Given the description of an element on the screen output the (x, y) to click on. 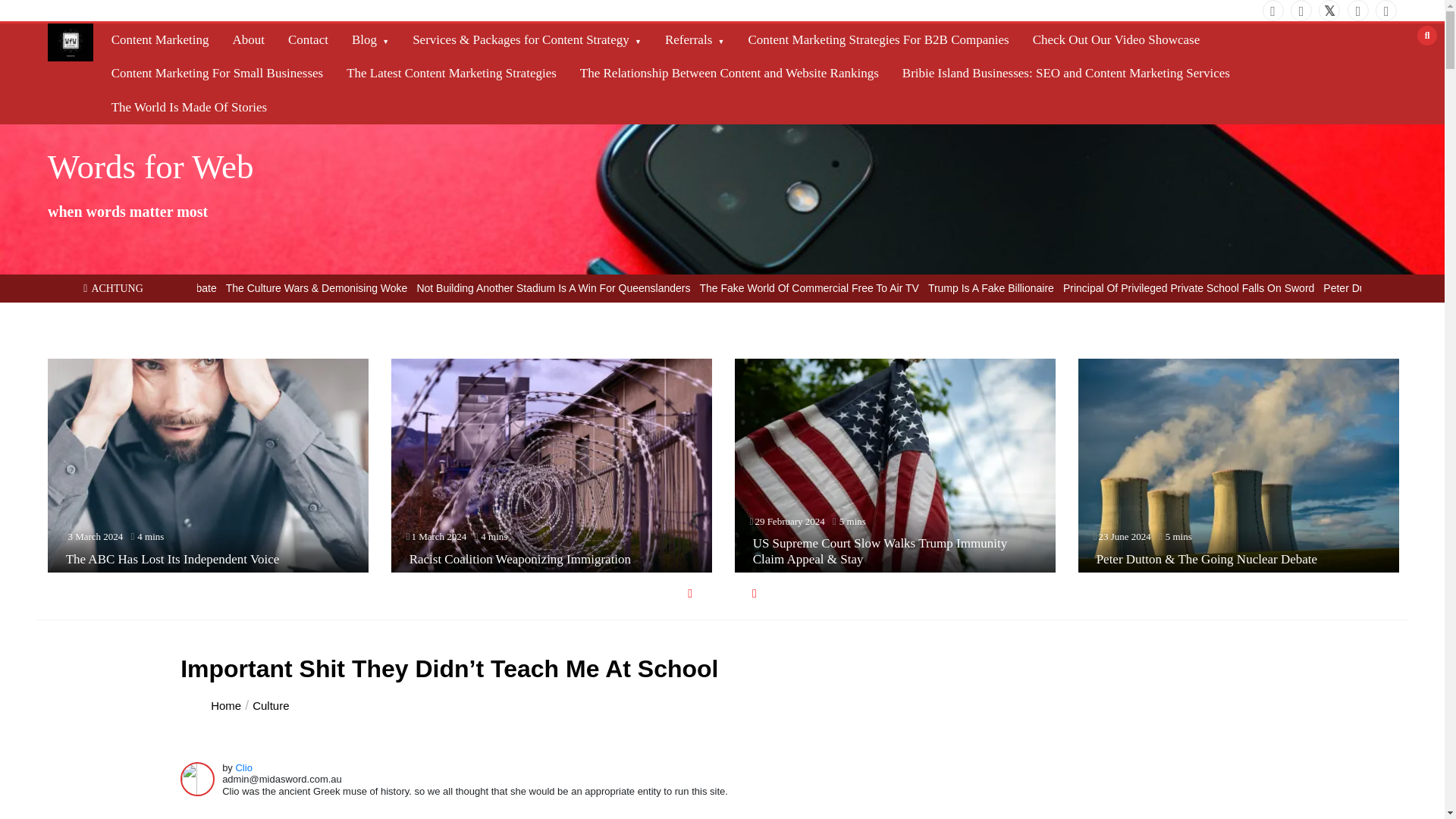
Content Marketing (159, 39)
Blog (370, 39)
Contact (308, 39)
Content Marketing (159, 39)
Check Out Our Video Showcase (1116, 39)
The Relationship Between Content and Website Rankings (729, 73)
Bribie Island Businesses: SEO and Content Marketing Services (1066, 73)
About (248, 39)
Contact (308, 39)
The World Is Made Of Stories (188, 107)
Blog (370, 39)
Content Marketing For Small Businesses (217, 73)
The Latest Content Marketing Strategies (451, 73)
Content Marketing Strategies For B2B Companies (877, 39)
Referrals (694, 39)
